Given the description of an element on the screen output the (x, y) to click on. 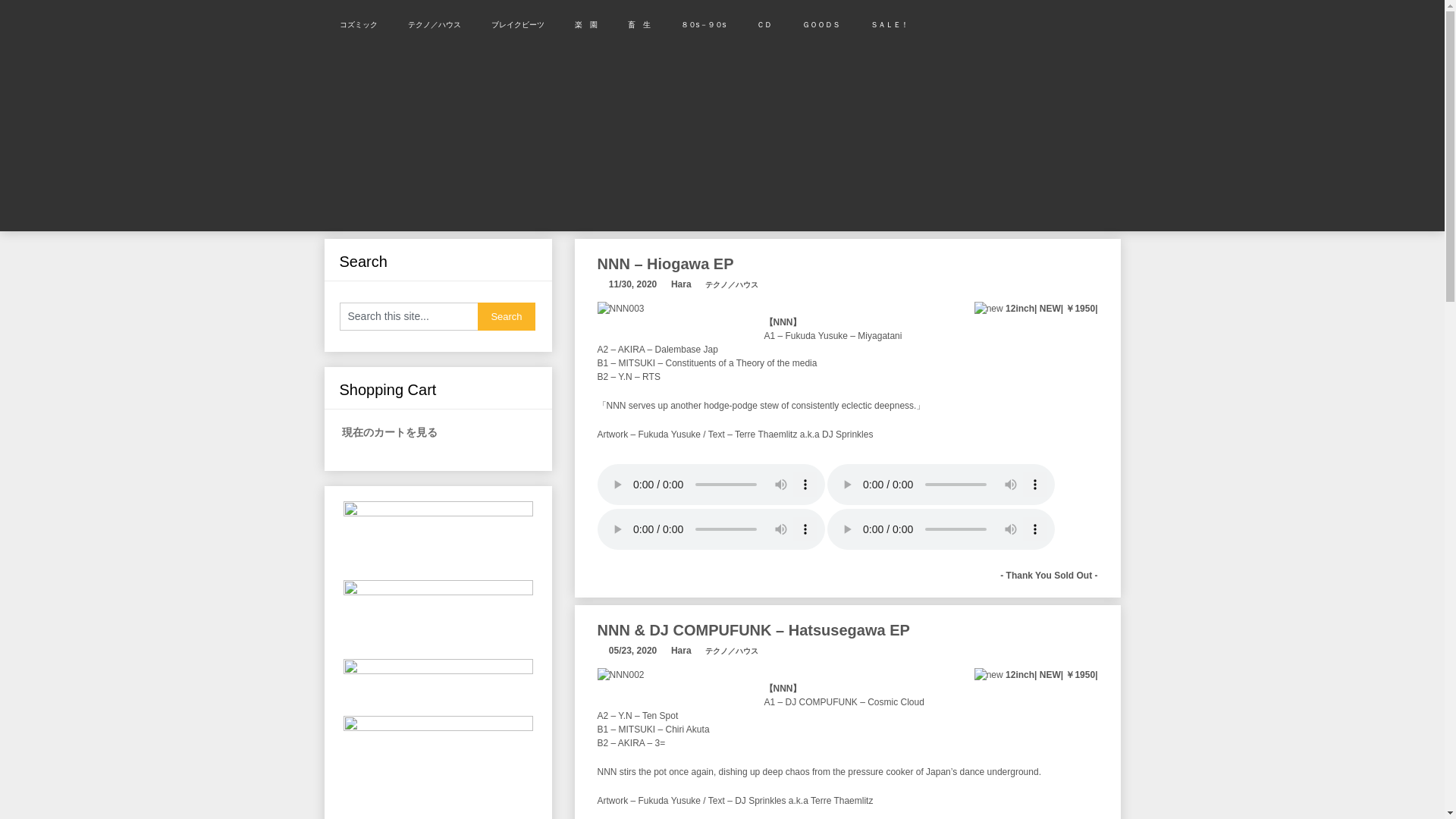
Search (506, 316)
Search this site... (408, 316)
Search (506, 316)
